Given the description of an element on the screen output the (x, y) to click on. 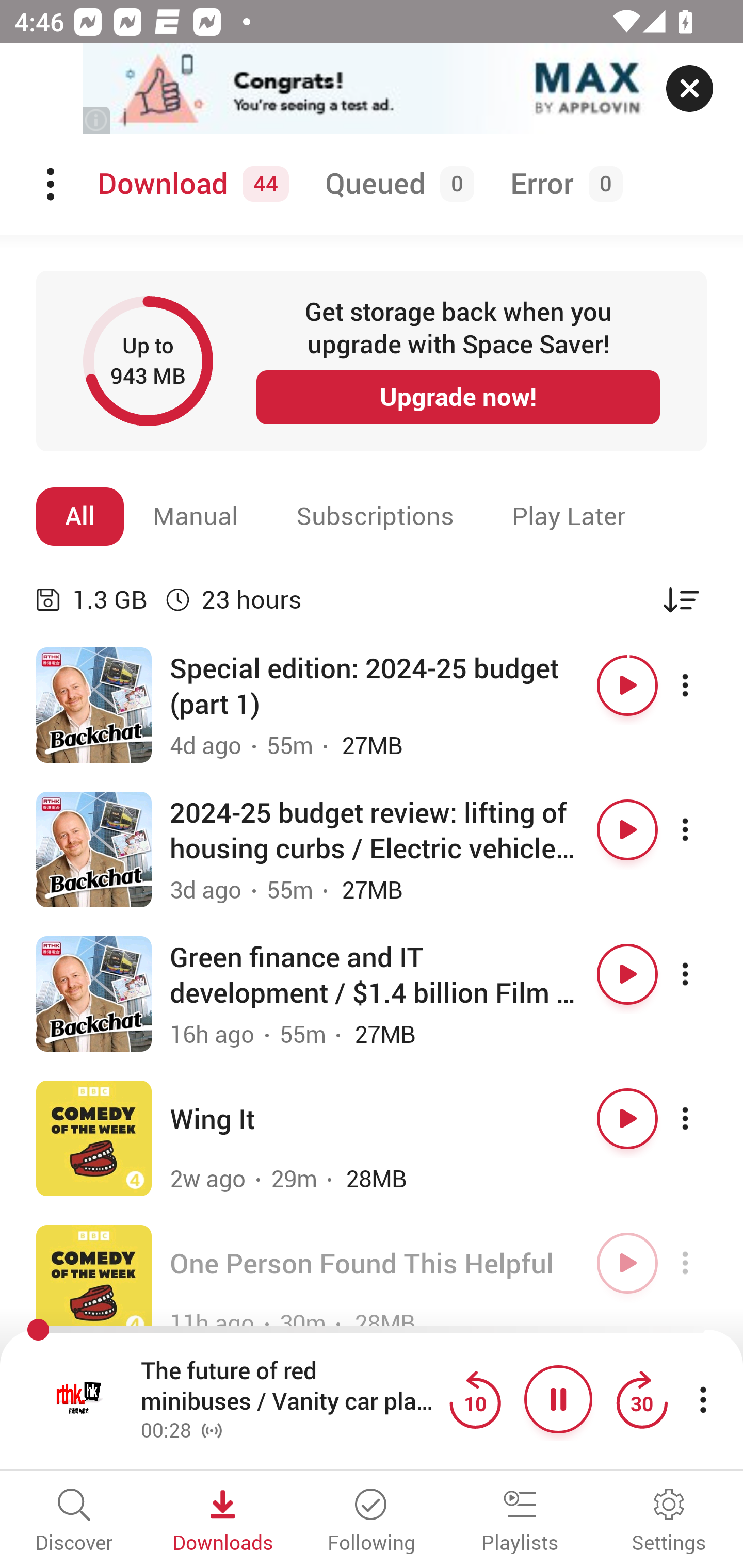
app-monetization (371, 88)
(i) (96, 119)
Menu (52, 184)
 Download 44 (189, 184)
 Queued 0 (396, 184)
 Error 0 (562, 184)
All (80, 516)
Manual (195, 516)
Subscriptions (374, 516)
Play Later (568, 516)
Change sort order (681, 599)
Play button (627, 685)
More options (703, 685)
Open series Backchat (93, 705)
Play button (627, 830)
More options (703, 830)
Open series Backchat (93, 849)
Play button (627, 974)
More options (703, 974)
Open series Backchat (93, 994)
Play button (627, 1118)
More options (703, 1118)
Open series Comedy of the Week (93, 1138)
Play button (627, 1263)
More options (703, 1263)
Open series Comedy of the Week (93, 1282)
Open fullscreen player (79, 1399)
More player controls (703, 1399)
Pause button (558, 1398)
Jump back (475, 1399)
Jump forward (641, 1399)
Discover (74, 1521)
Downloads (222, 1521)
Following (371, 1521)
Playlists (519, 1521)
Settings (668, 1521)
